Given the description of an element on the screen output the (x, y) to click on. 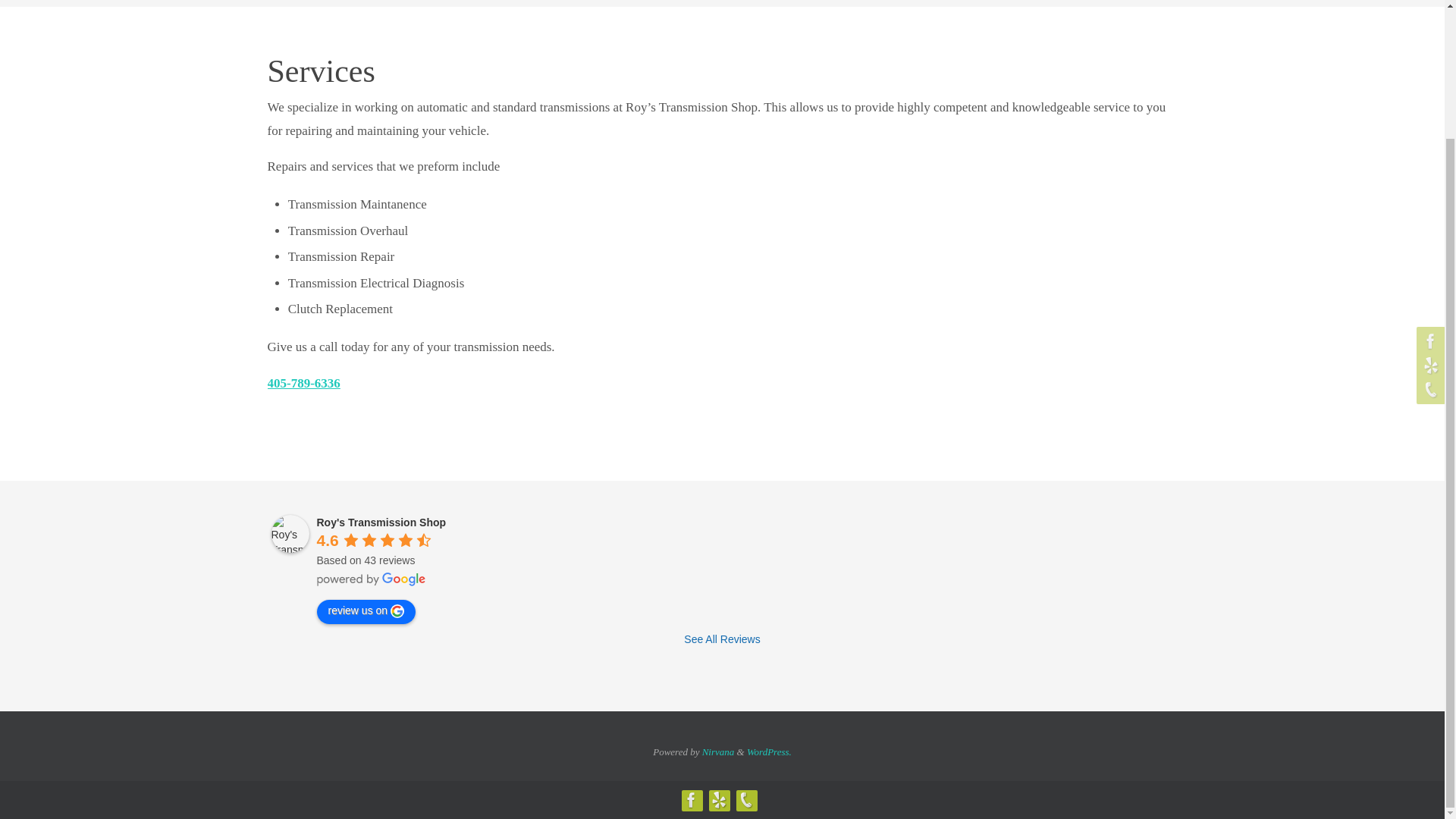
Nirvana Theme by Cryout Creations (718, 751)
See All Reviews (721, 639)
405-789-6336 (302, 382)
Facebook (690, 799)
review us on (366, 611)
powered by Google (371, 579)
Semantic Personal Publishing Platform (769, 751)
WordPress. (769, 751)
Roy's Transmission Shop (289, 533)
Nirvana (718, 751)
Yelp (717, 799)
Phone (745, 799)
Roy's Transmission Shop (381, 522)
